Given the description of an element on the screen output the (x, y) to click on. 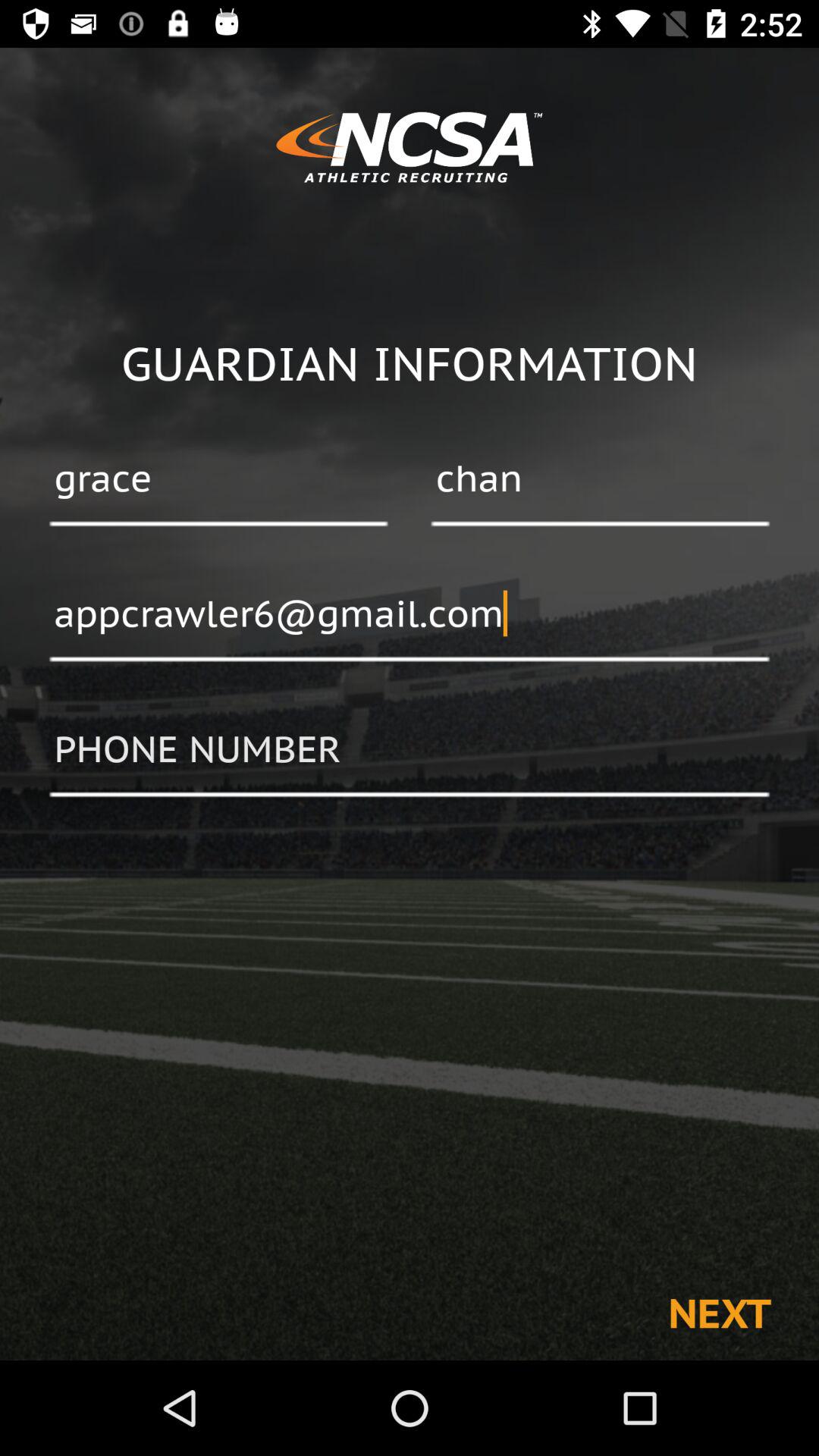
select item to the right of grace (600, 479)
